Given the description of an element on the screen output the (x, y) to click on. 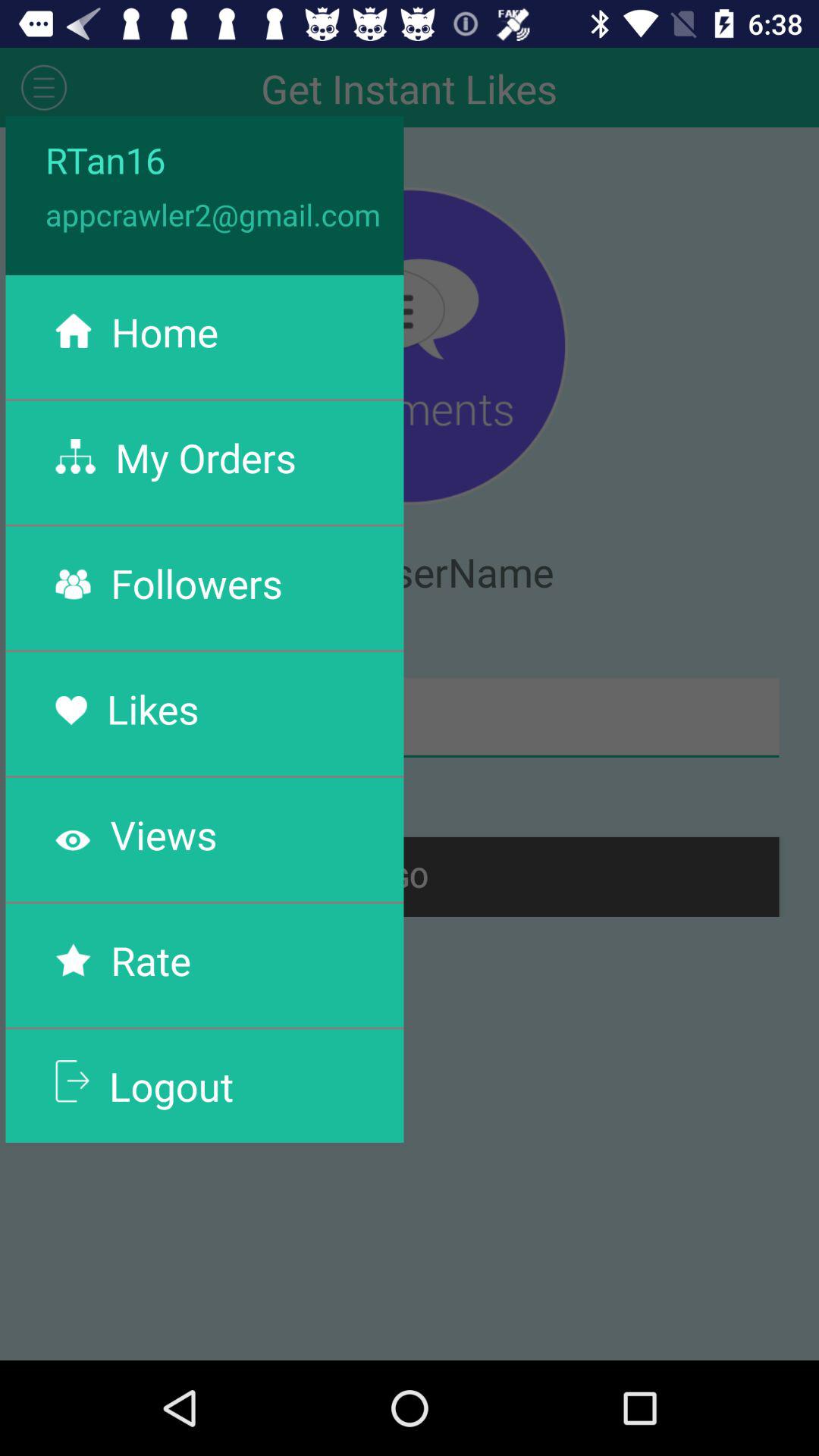
open the likes icon (152, 708)
